Given the description of an element on the screen output the (x, y) to click on. 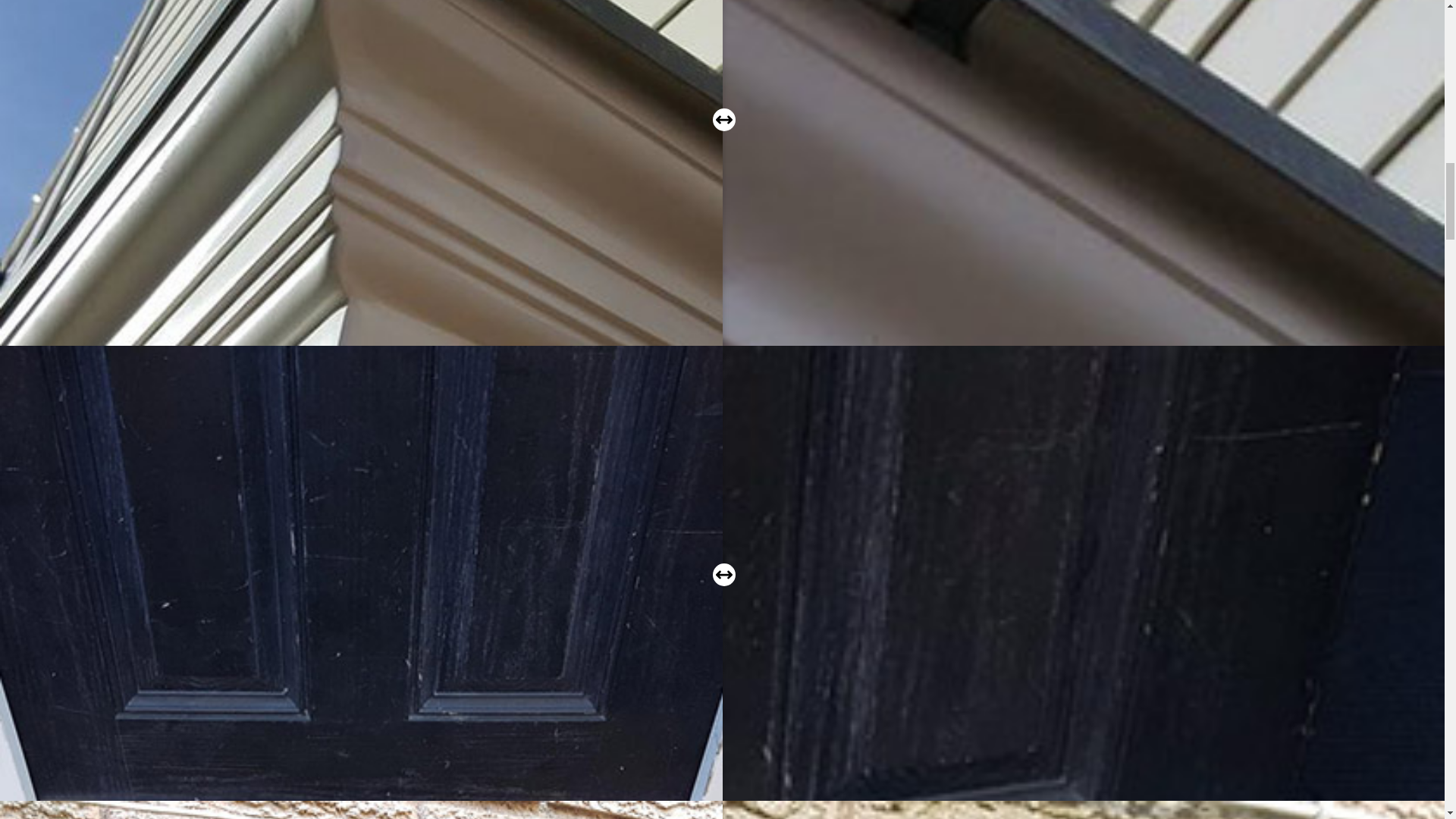
50 (723, 574)
50 (723, 119)
